Given the description of an element on the screen output the (x, y) to click on. 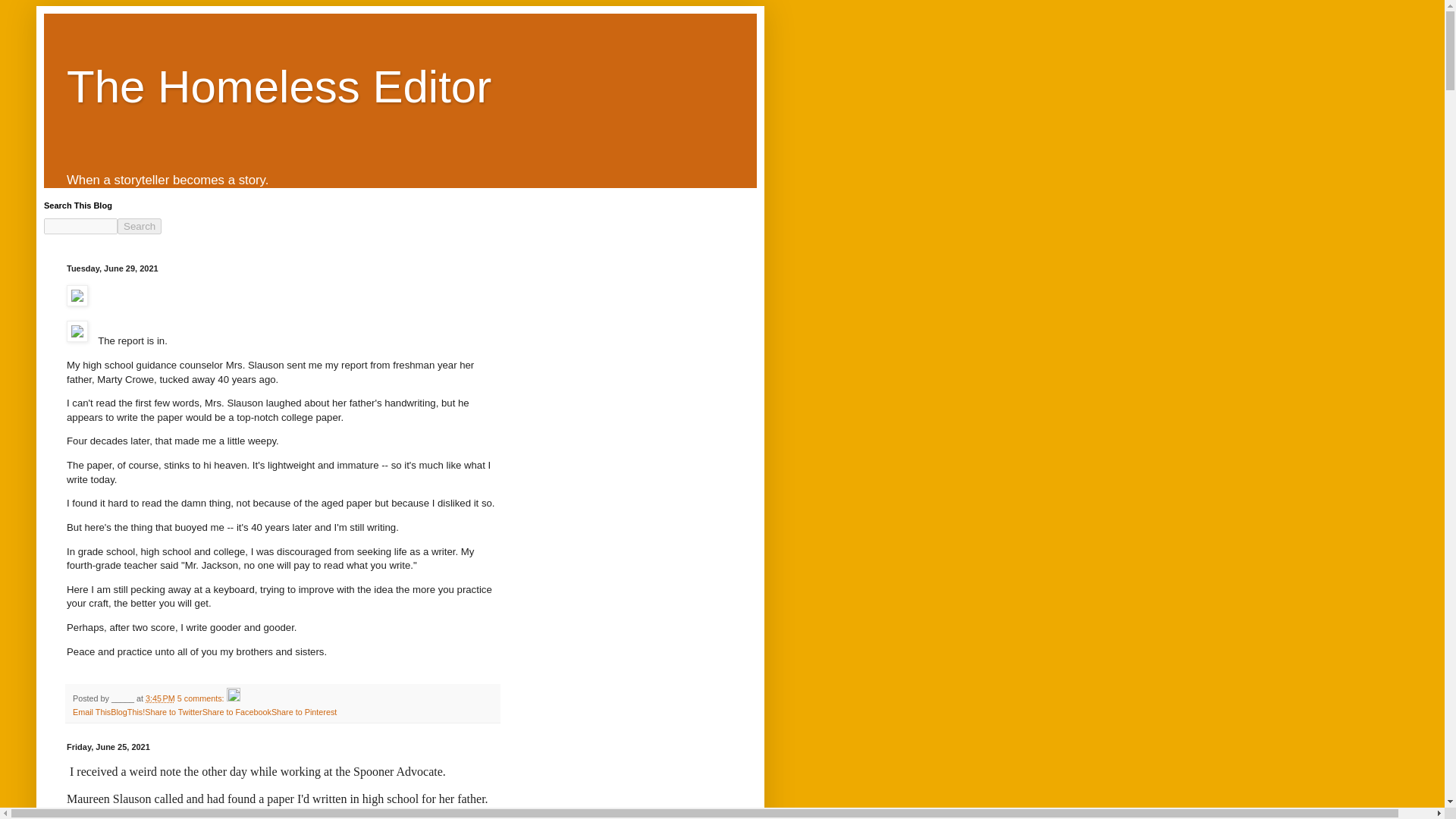
Share to Pinterest (303, 711)
search (80, 226)
Share to Twitter (173, 711)
Email This (91, 711)
search (139, 226)
Share to Pinterest (303, 711)
Share to Twitter (173, 711)
5 comments: (202, 697)
Search (139, 226)
BlogThis! (127, 711)
BlogThis! (127, 711)
Share to Facebook (236, 711)
The Homeless Editor (279, 86)
Email This (91, 711)
